Given the description of an element on the screen output the (x, y) to click on. 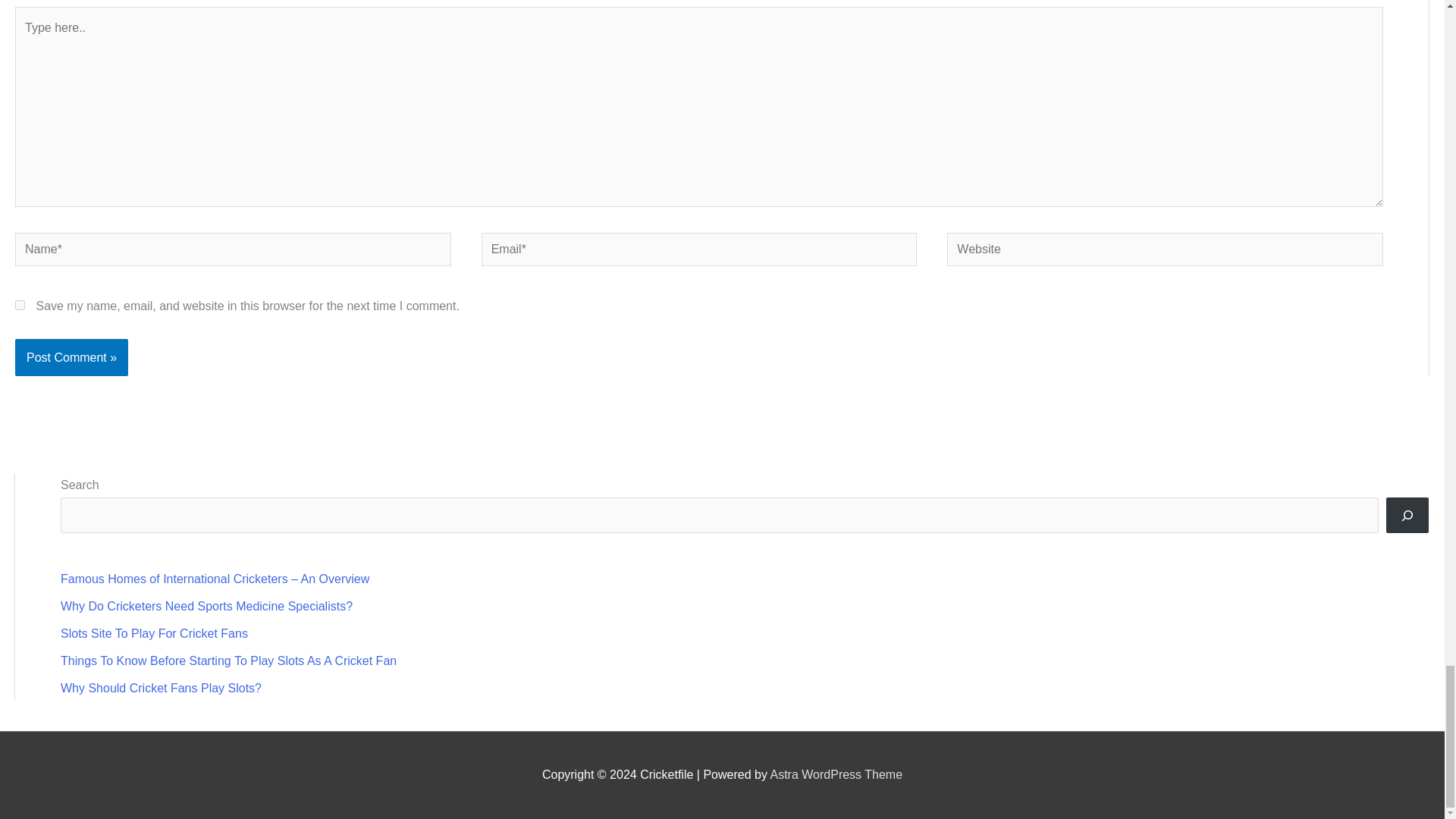
yes (19, 305)
